Given the description of an element on the screen output the (x, y) to click on. 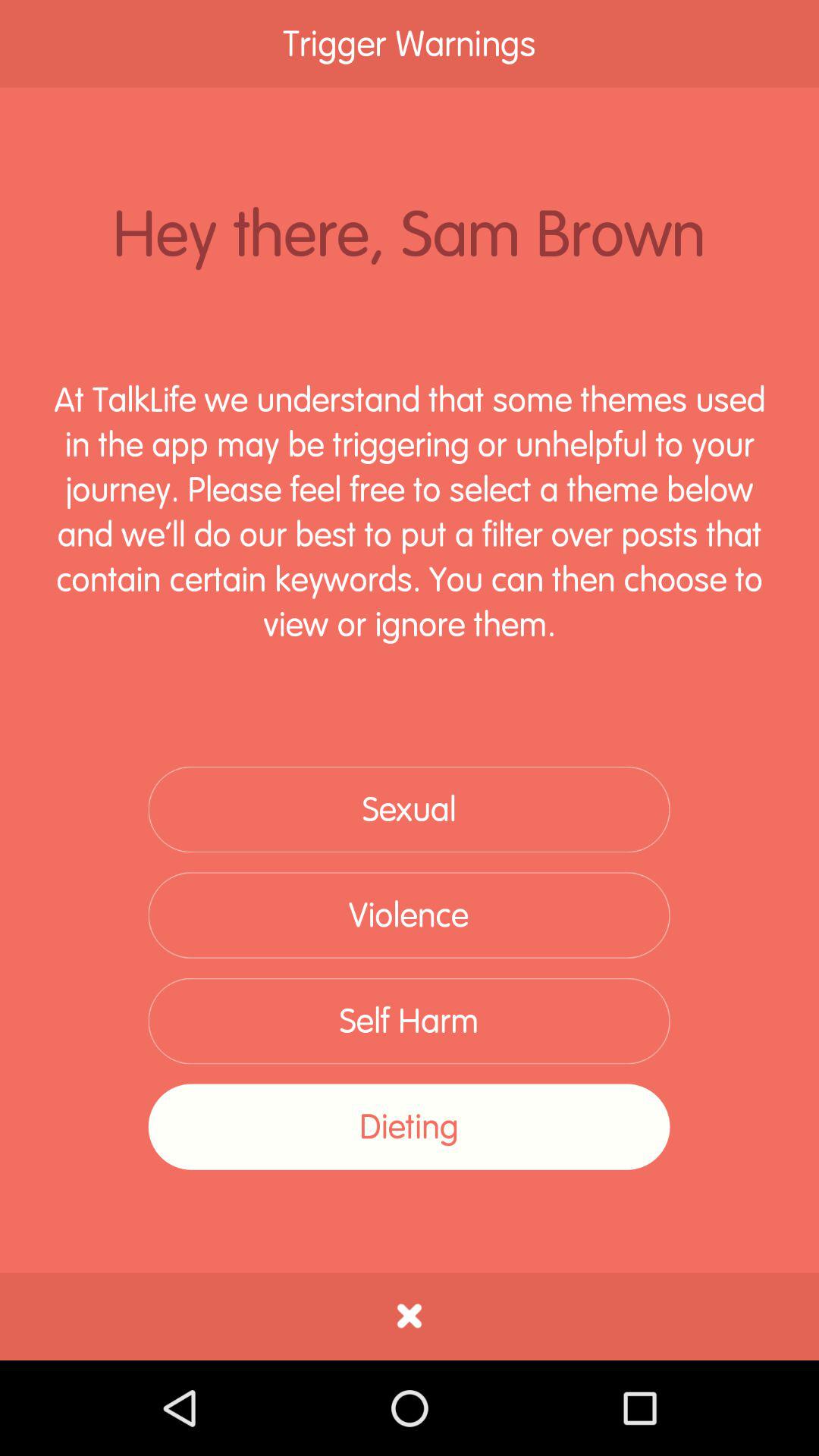
turn off the violence (408, 915)
